Given the description of an element on the screen output the (x, y) to click on. 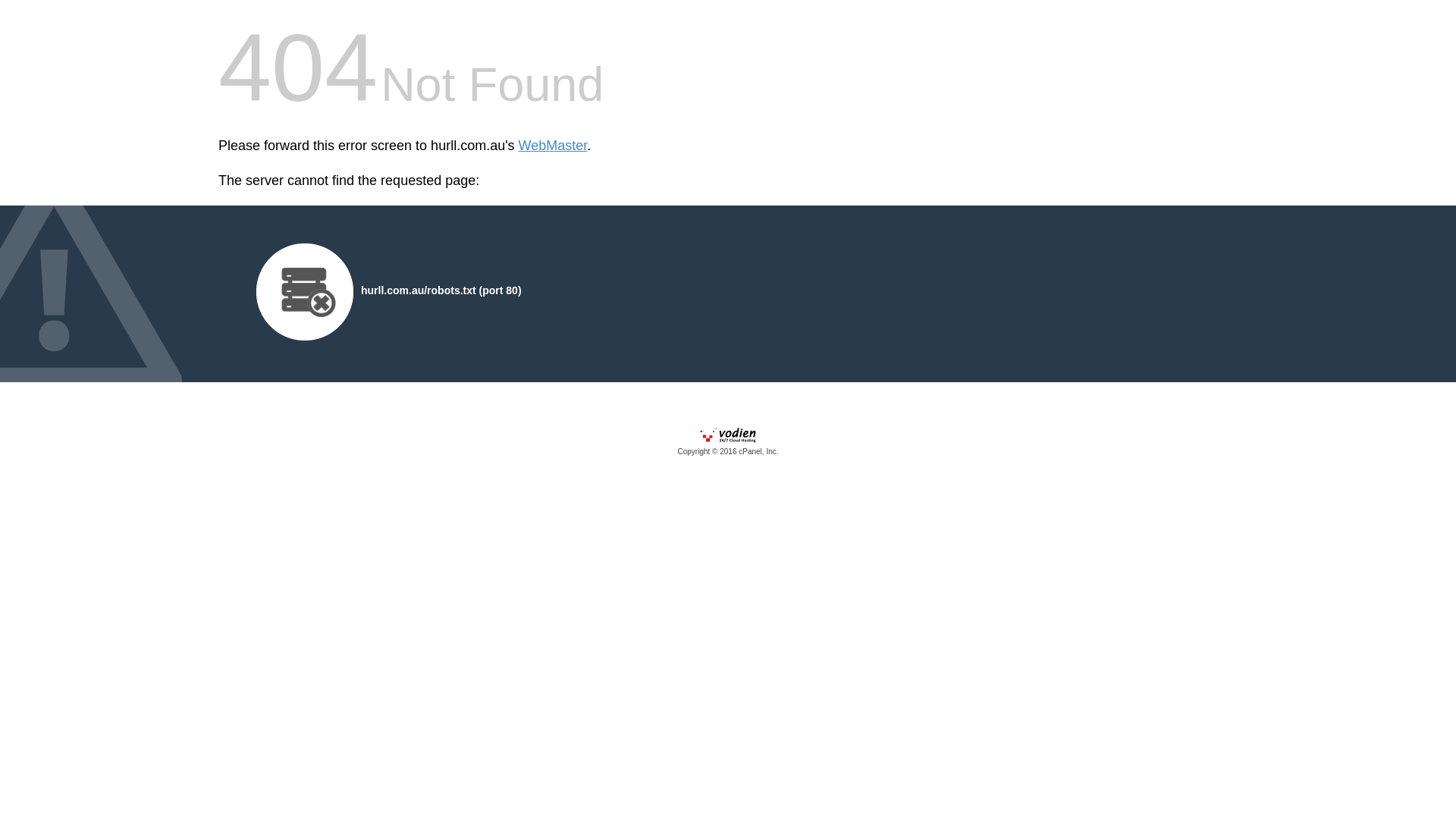
WebMaster Element type: text (552, 145)
